Given the description of an element on the screen output the (x, y) to click on. 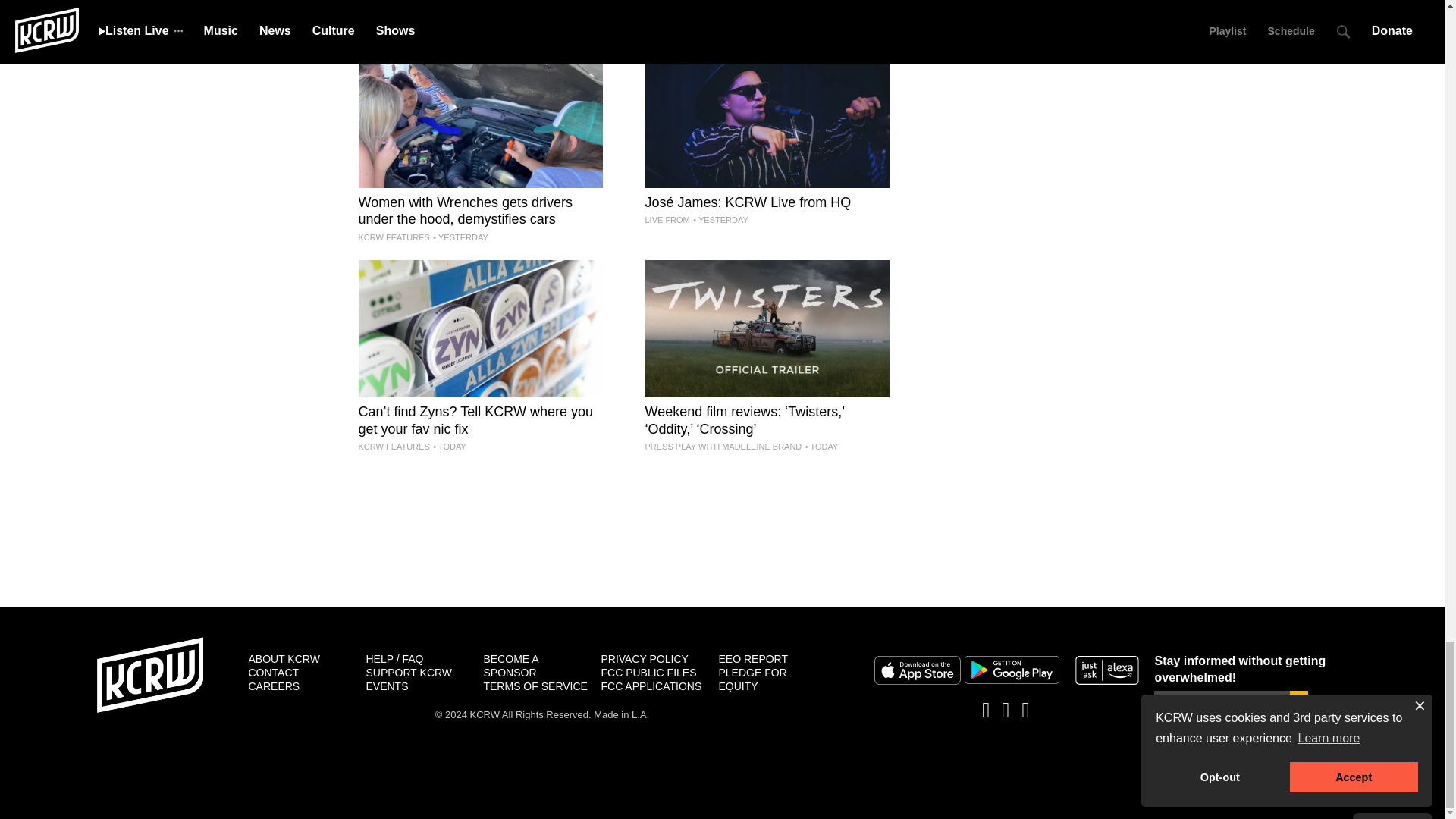
Thursday, July 18th 2024, 3:00 pm (459, 236)
Thursday, July 18th 2024, 10:00 pm (720, 219)
